Given the description of an element on the screen output the (x, y) to click on. 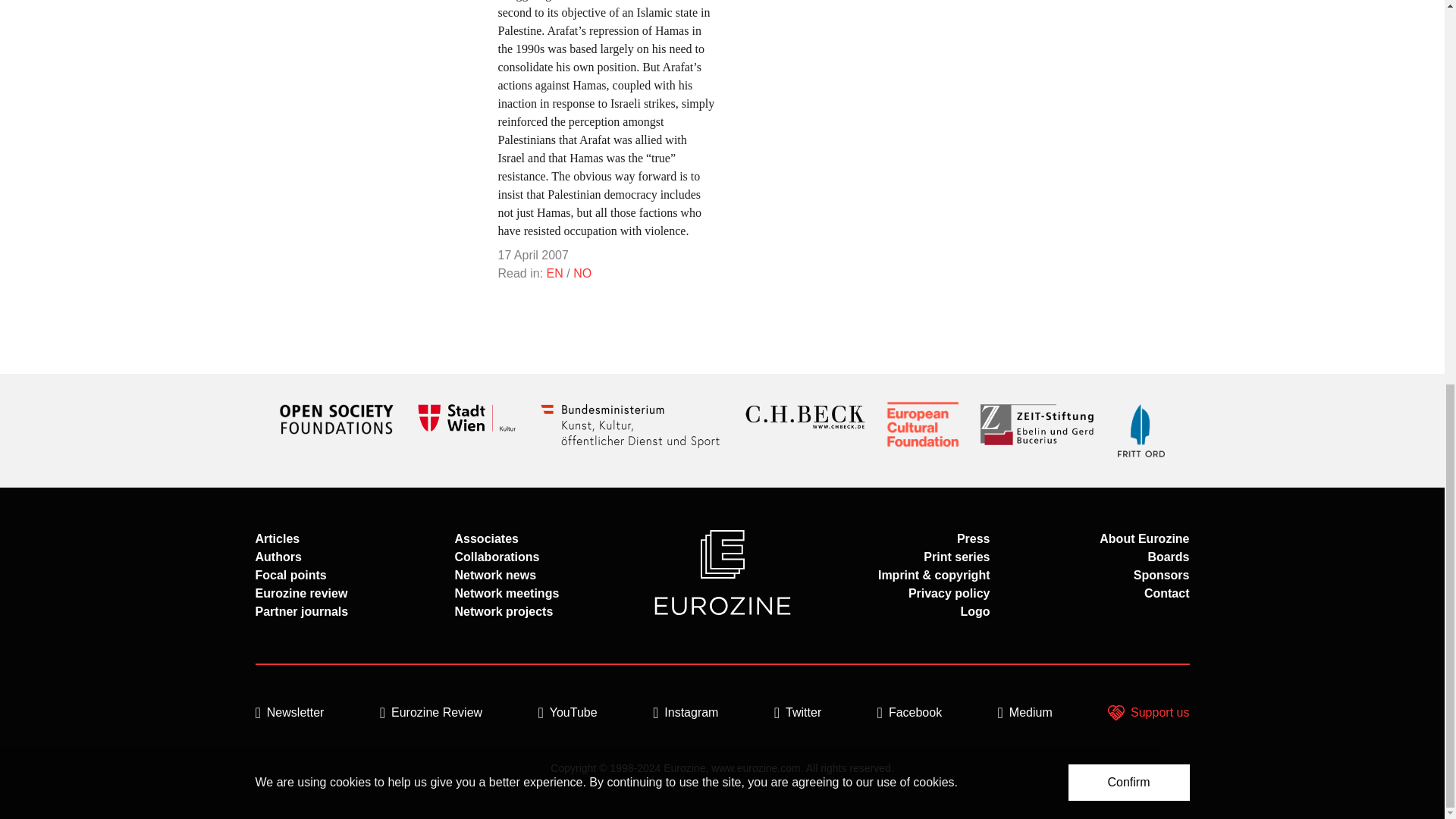
Confirm (1128, 61)
